Given the description of an element on the screen output the (x, y) to click on. 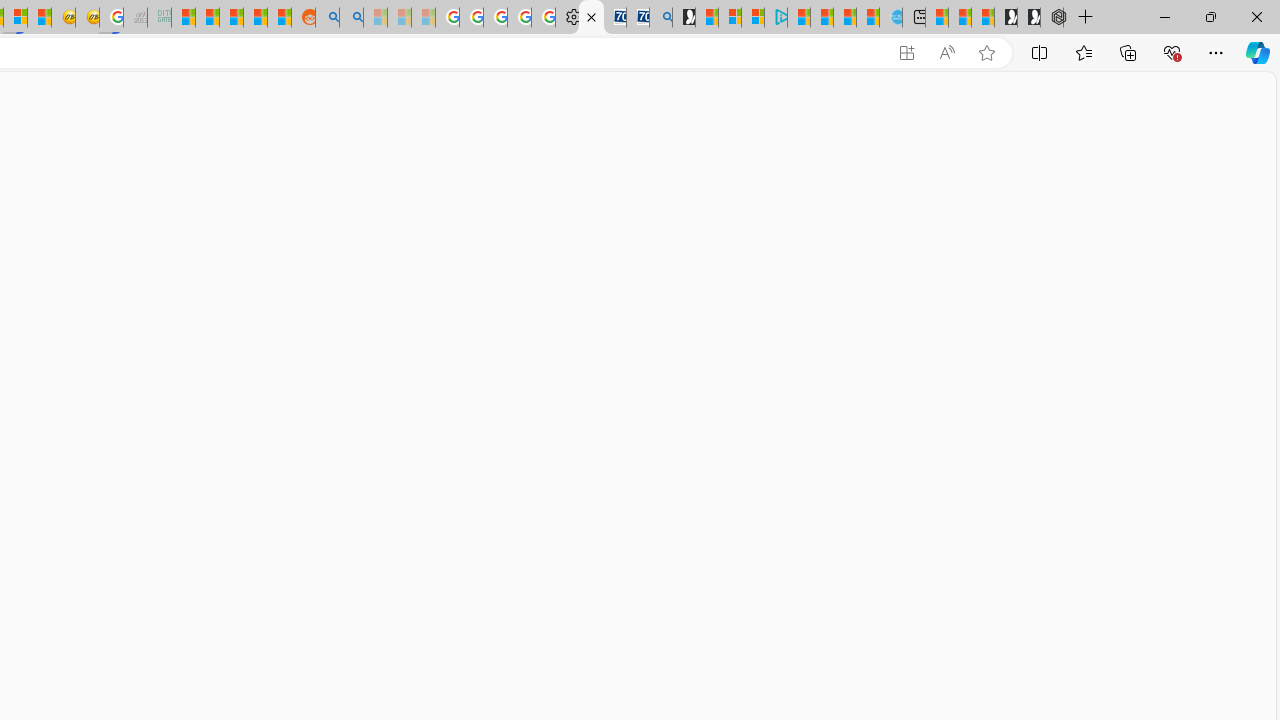
Student Loan Update: Forgiveness Program Ends This Month (255, 17)
